Given the description of an element on the screen output the (x, y) to click on. 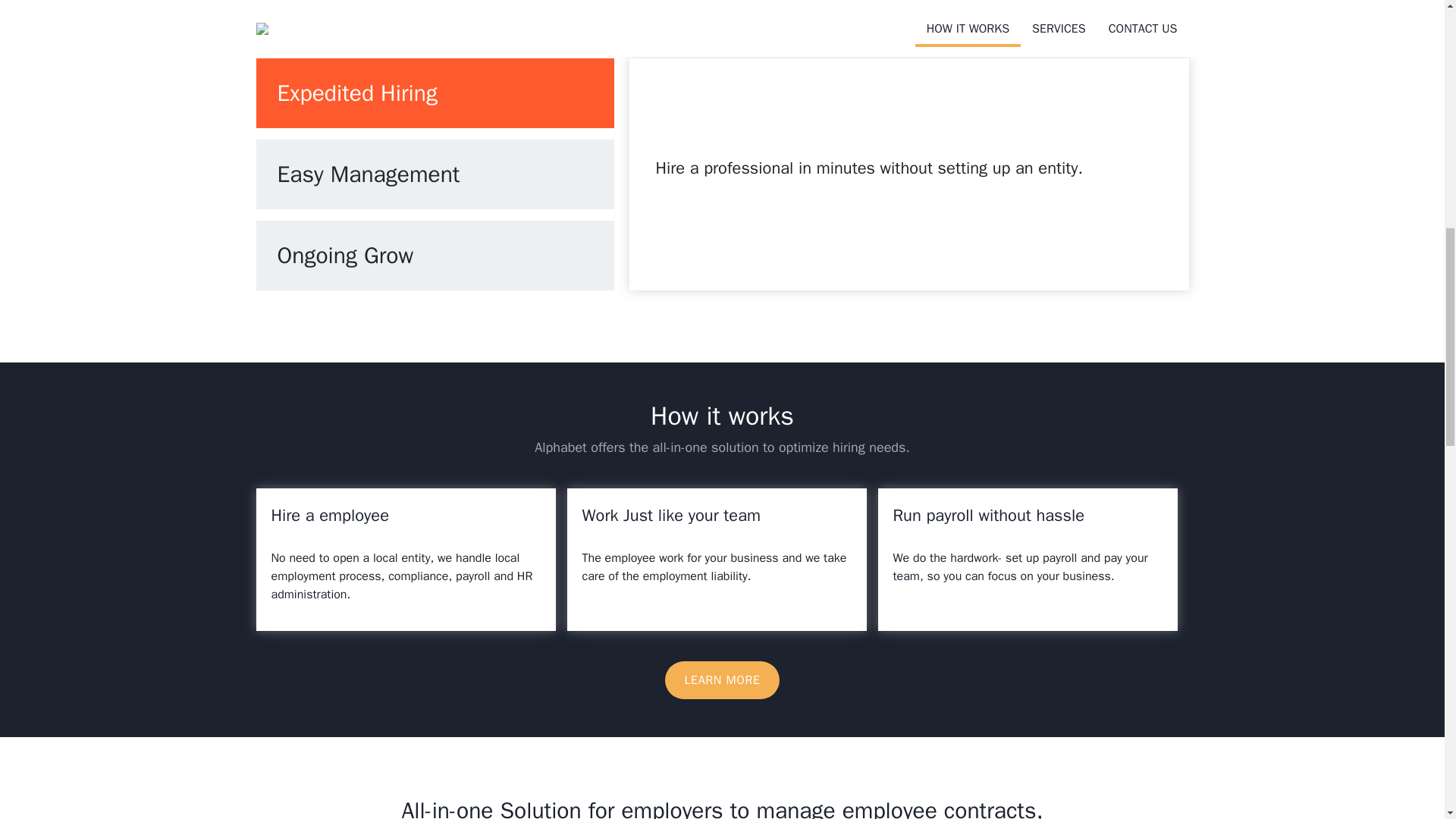
LEARN MORE (721, 679)
